Given the description of an element on the screen output the (x, y) to click on. 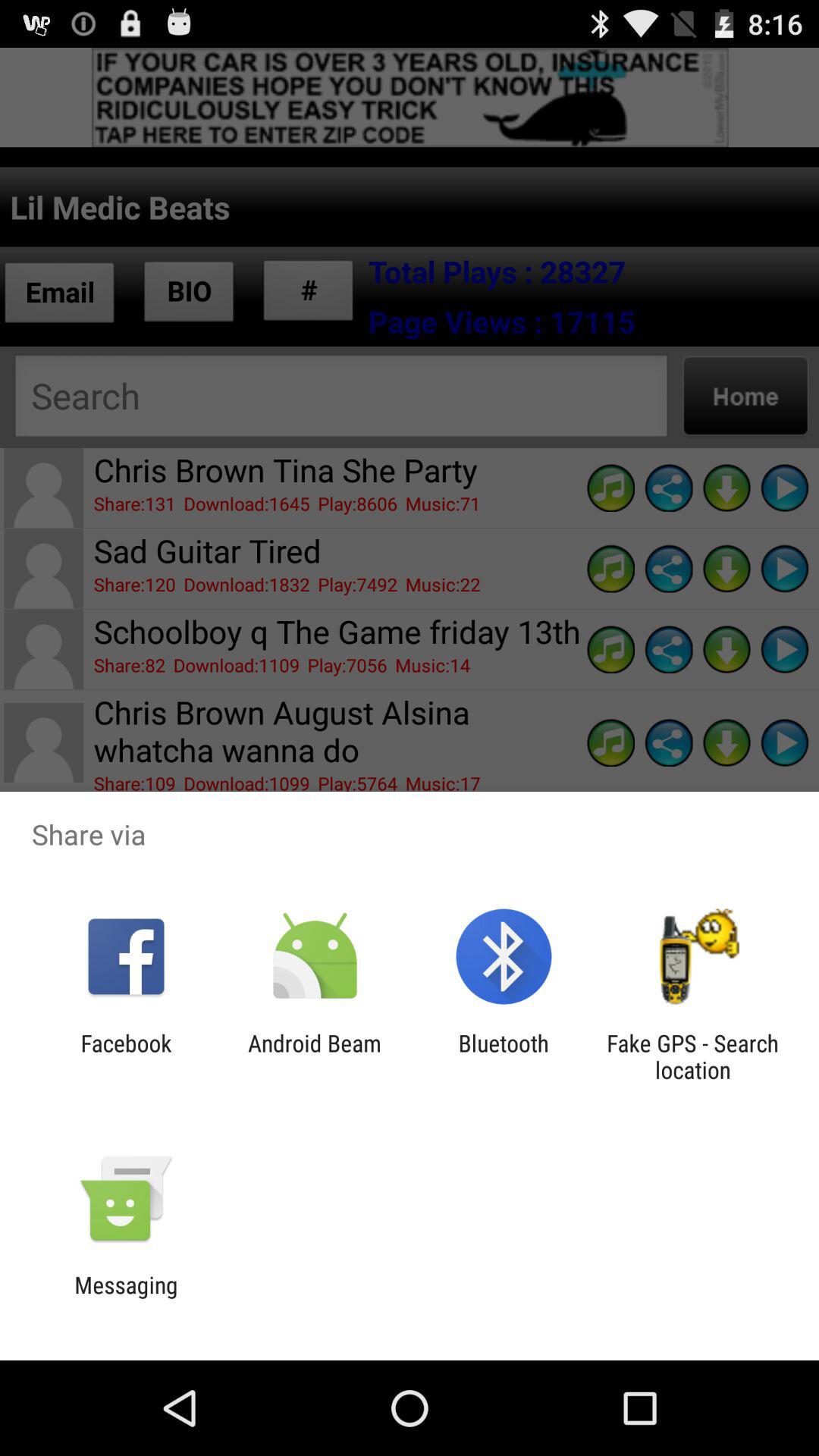
click icon next to facebook icon (314, 1056)
